Given the description of an element on the screen output the (x, y) to click on. 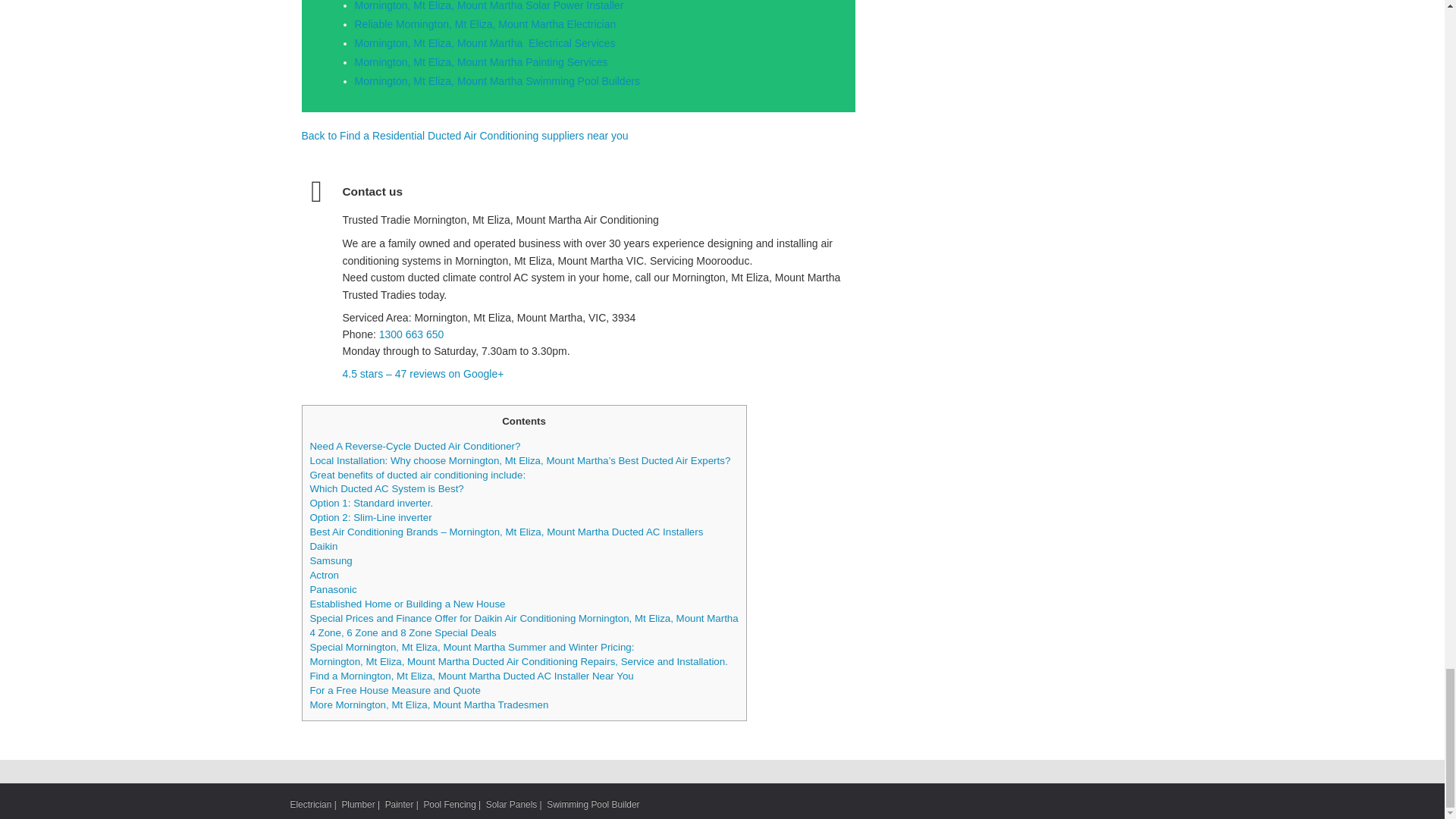
Which Ducted AC System is Best? (385, 488)
Actron (322, 574)
Panasonic (332, 589)
Daikin (322, 546)
Option 2: Slim-Line inverter (369, 517)
Option 1: Standard inverter. (370, 502)
1300 663 650 (411, 334)
Samsung (330, 560)
Need A Reverse-Cycle Ducted Air Conditioner? (413, 446)
